Given the description of an element on the screen output the (x, y) to click on. 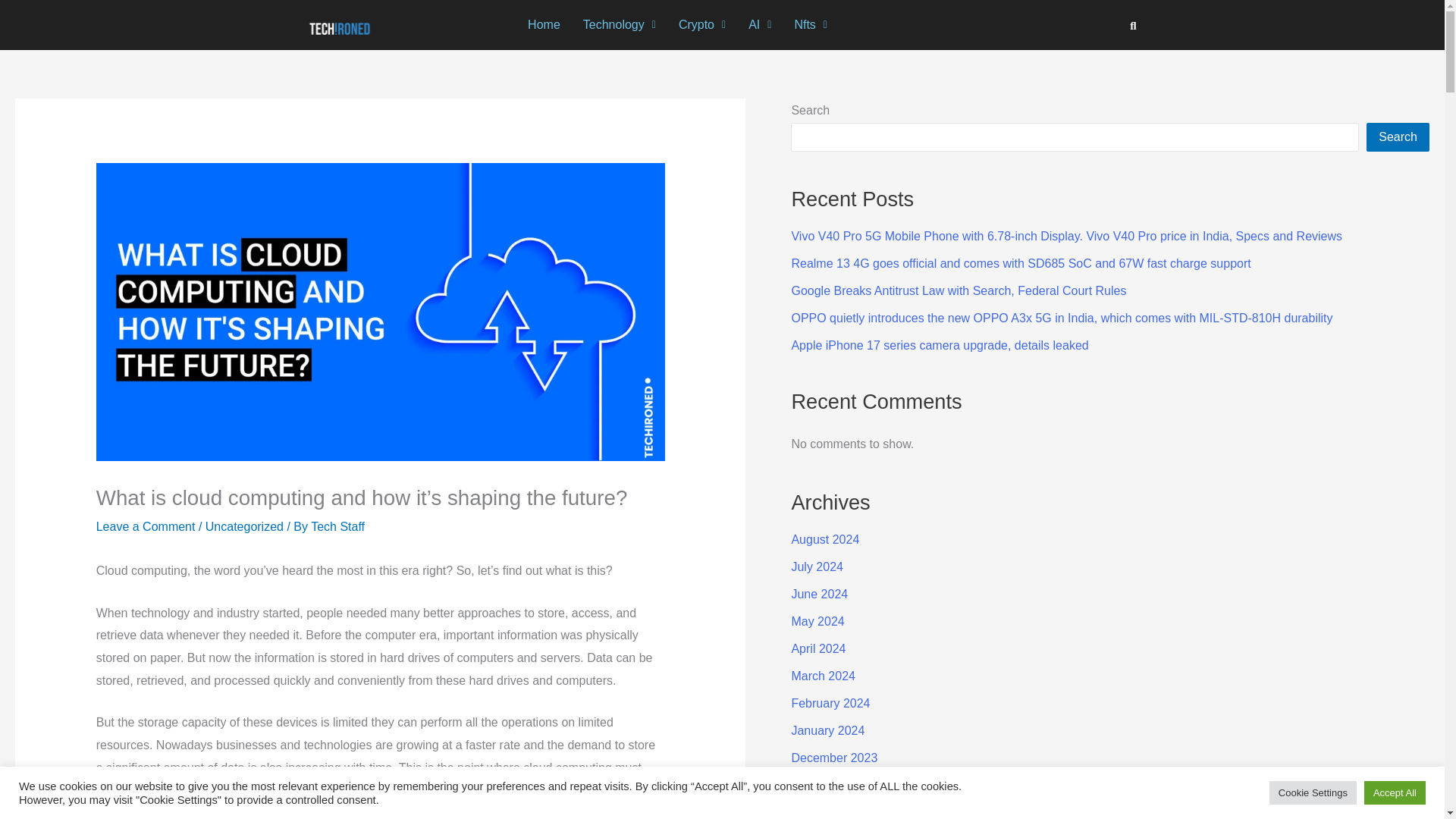
Nfts (810, 24)
April 2024 (817, 648)
Apple iPhone 17 series camera upgrade, details leaked (938, 345)
Search (1398, 136)
View all posts by Tech Staff (338, 526)
Search (1128, 25)
Uncategorized (244, 526)
Crypto (701, 24)
